Given the description of an element on the screen output the (x, y) to click on. 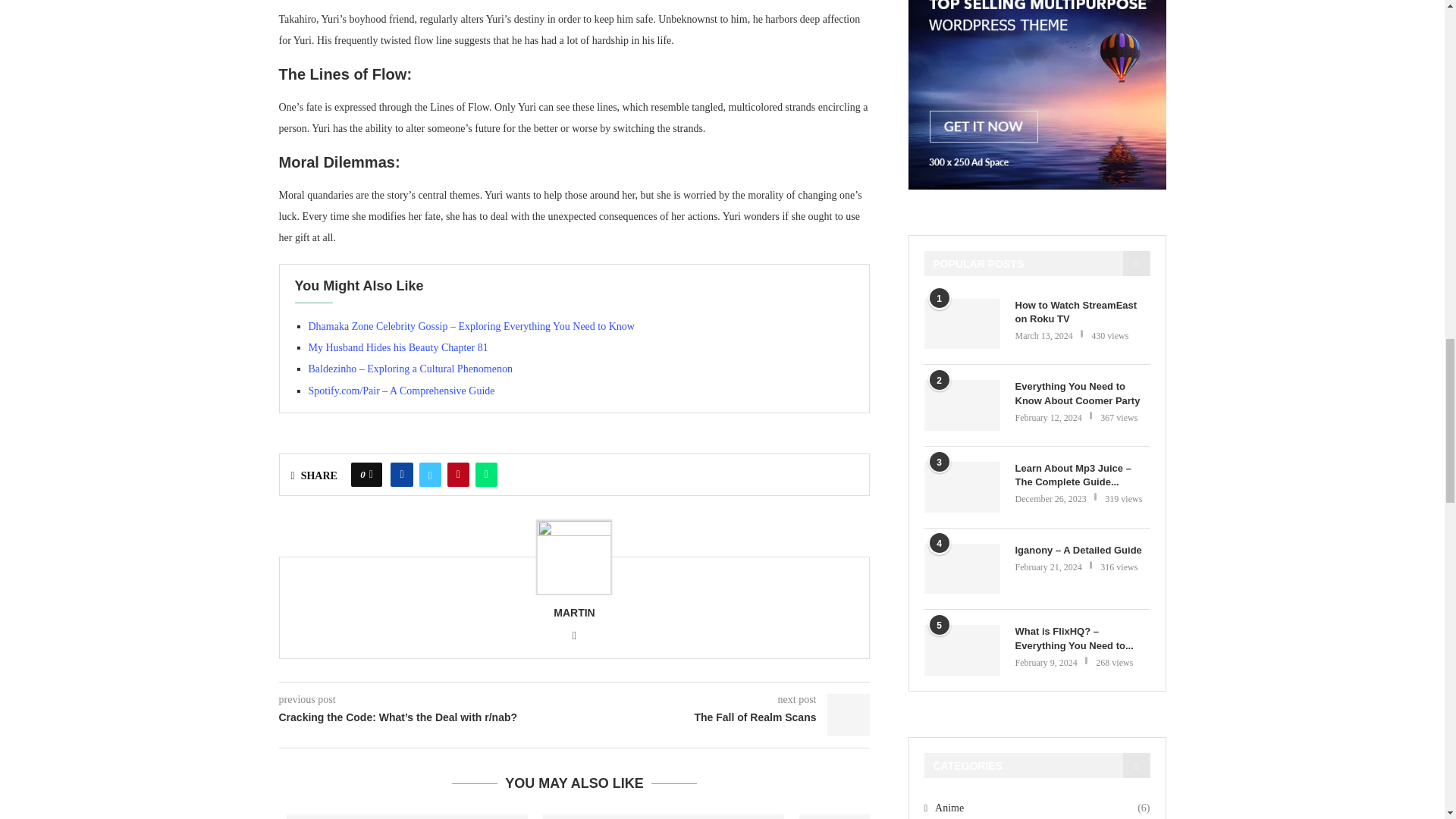
My Husband Hides his Beauty Chapter 81 (397, 347)
Half of the 1990s-2000s Rock Duo With Six Grammys (663, 816)
Soap2day (920, 816)
Author martin (573, 612)
